Given the description of an element on the screen output the (x, y) to click on. 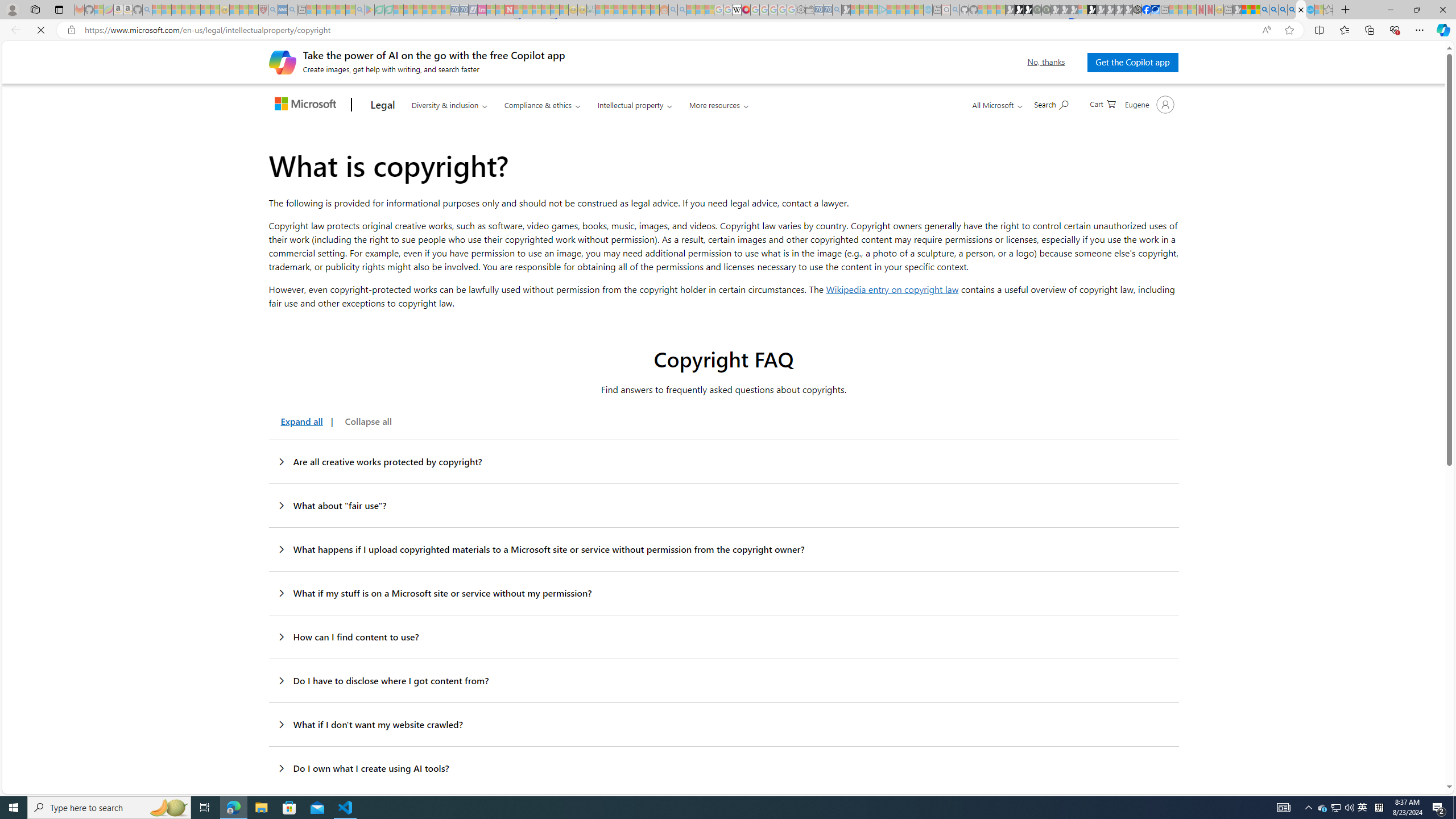
google - Search - Sleeping (359, 9)
How can I find content to use? (723, 637)
